Given the description of an element on the screen output the (x, y) to click on. 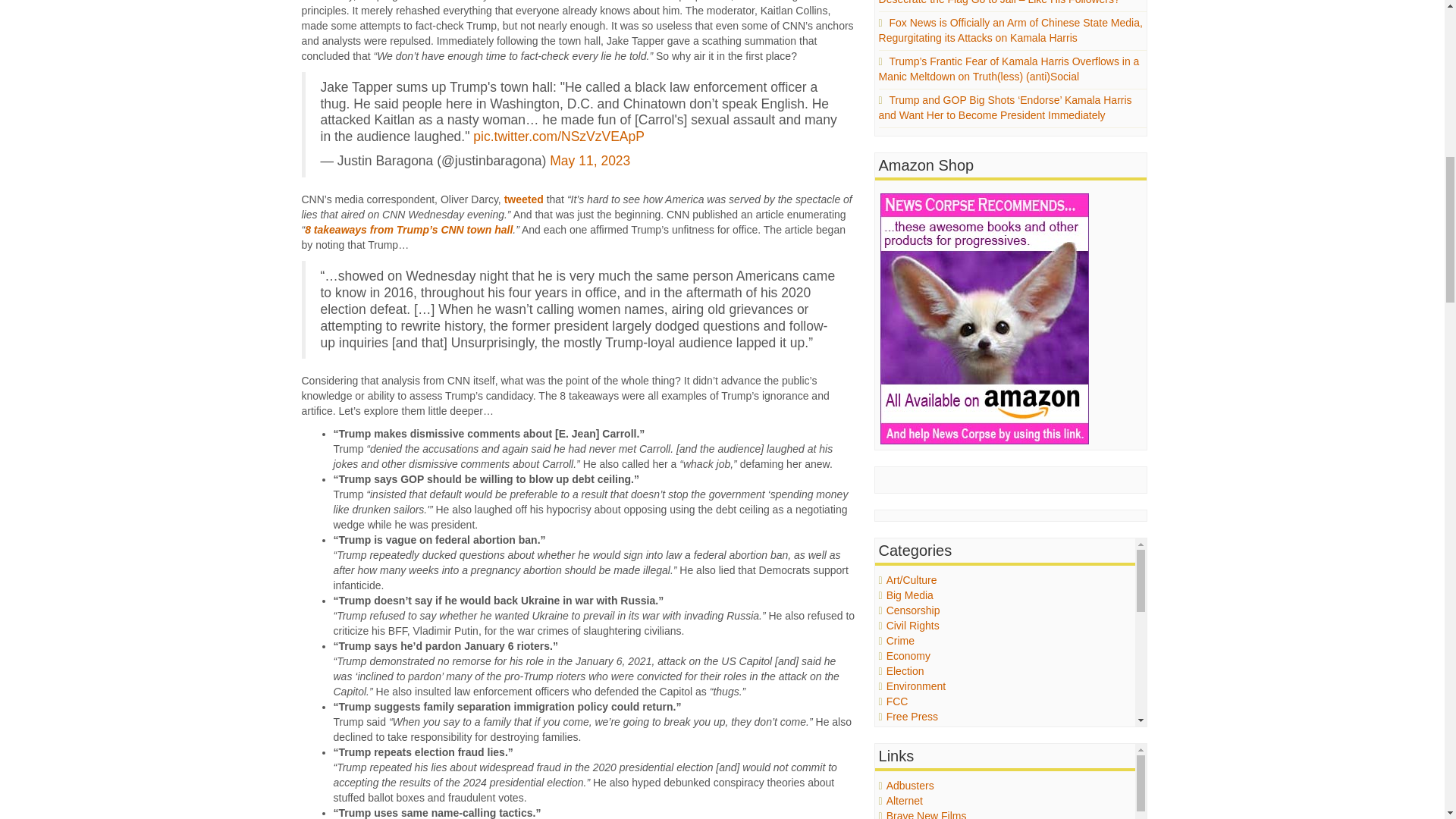
May 11, 2023 (590, 160)
tweeted (523, 199)
